Given the description of an element on the screen output the (x, y) to click on. 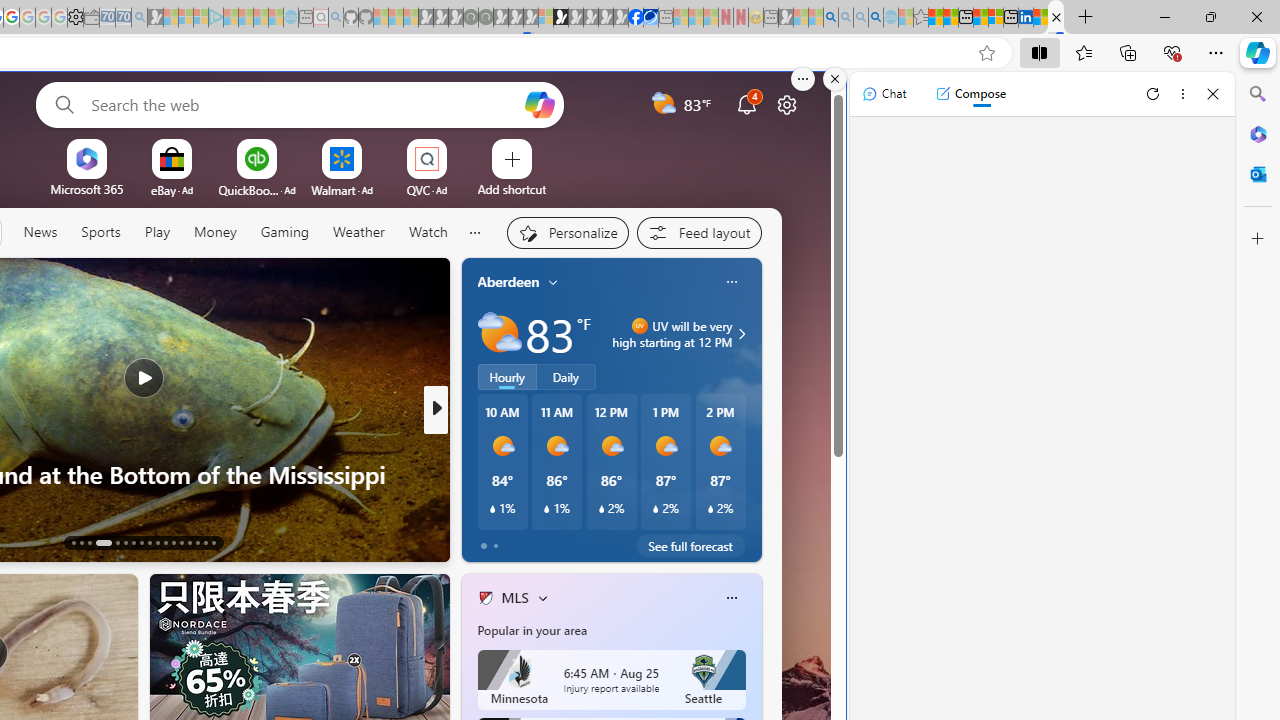
View comments 6 Comment (573, 541)
AutomationID: tab-17 (116, 542)
AutomationID: tab-13 (73, 542)
Forge of Empires (514, 473)
MSN - Sleeping (786, 17)
2 Like (484, 541)
Aberdeen (508, 281)
AutomationID: tab-22 (157, 542)
